Given the description of an element on the screen output the (x, y) to click on. 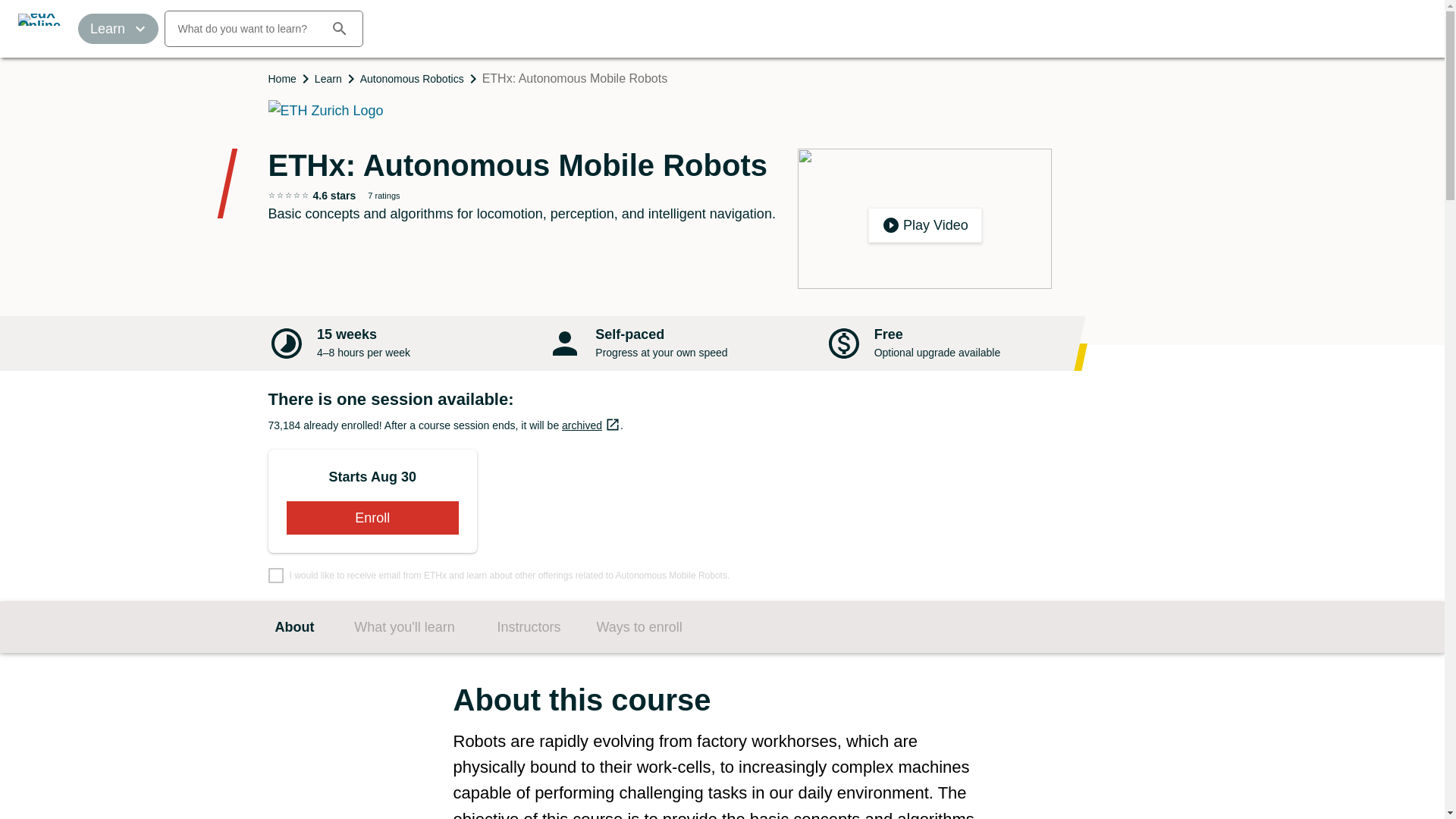
Opens in a new tab (612, 424)
Learn (328, 78)
Instructors (529, 627)
false (275, 575)
What you'll learn (404, 627)
Home (282, 78)
Submit your search query (339, 28)
Enroll (591, 425)
